Given the description of an element on the screen output the (x, y) to click on. 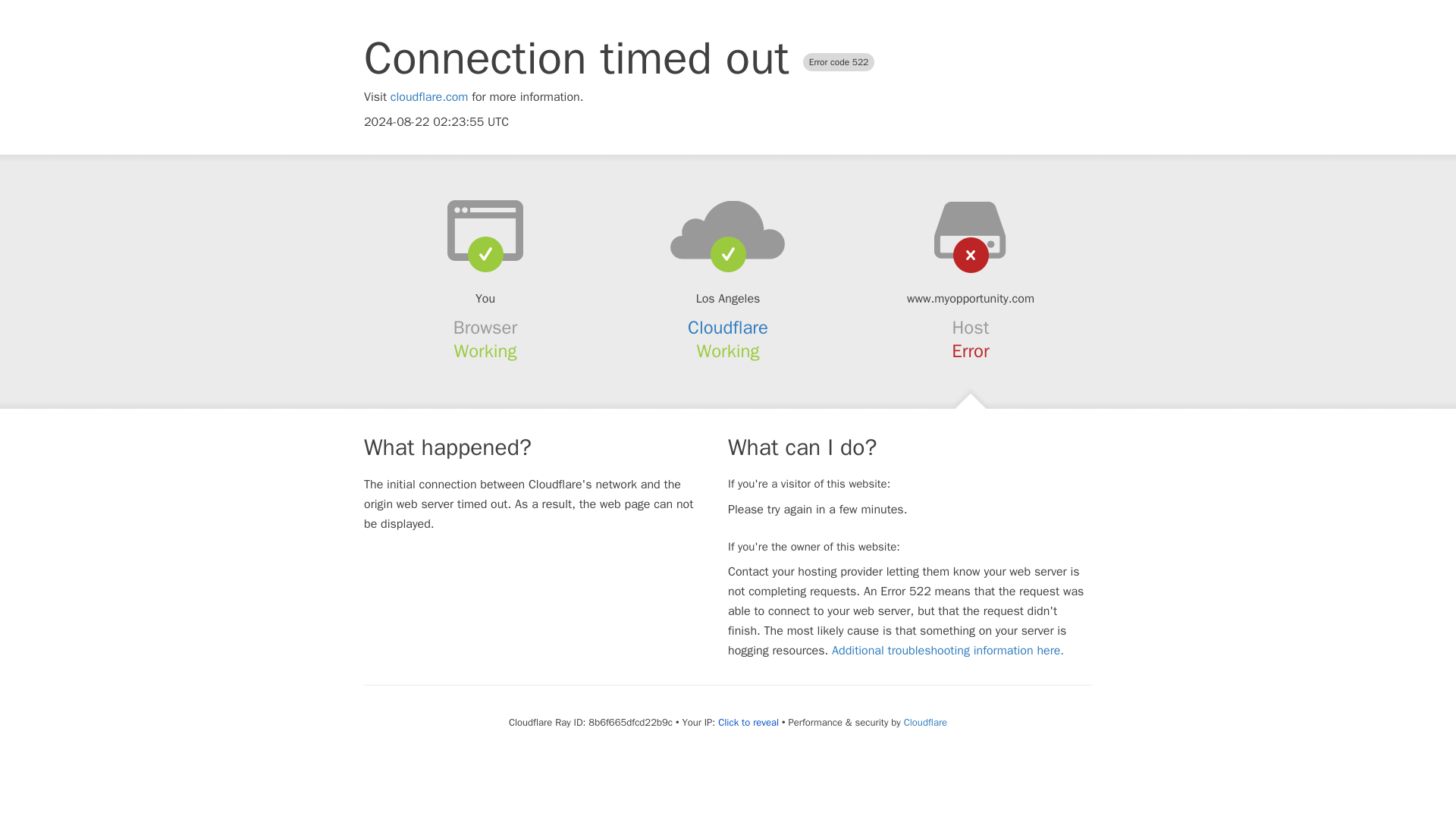
Additional troubleshooting information here. (947, 650)
Cloudflare (925, 721)
Click to reveal (747, 722)
cloudflare.com (429, 96)
Cloudflare (727, 327)
